Given the description of an element on the screen output the (x, y) to click on. 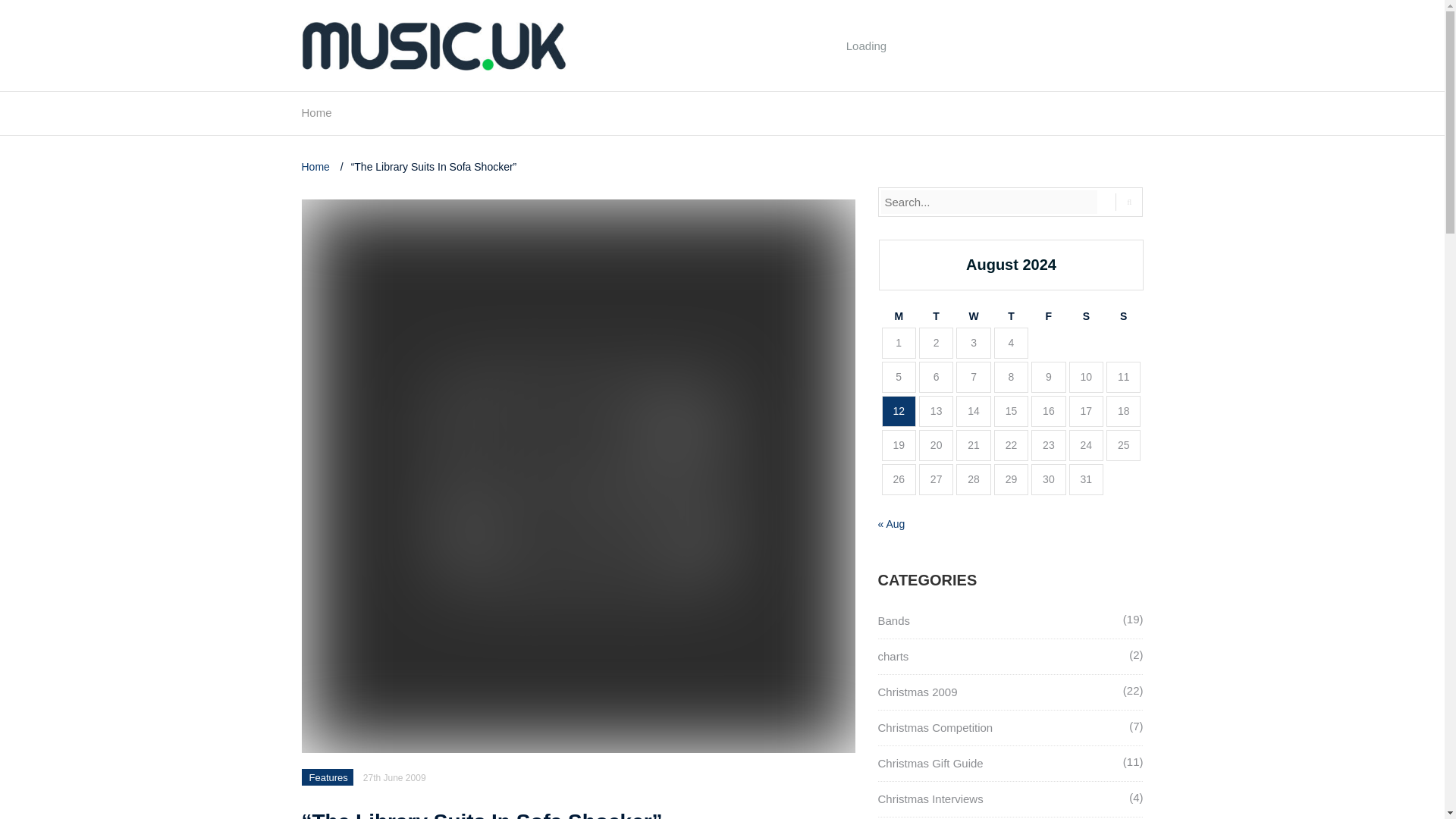
Home (316, 116)
Christmas Interviews (930, 798)
Home (317, 166)
Features (327, 777)
Bands (894, 620)
charts (892, 656)
Saturday (1085, 316)
Wednesday (973, 316)
Advertisement (866, 80)
Search   (1128, 201)
